Given the description of an element on the screen output the (x, y) to click on. 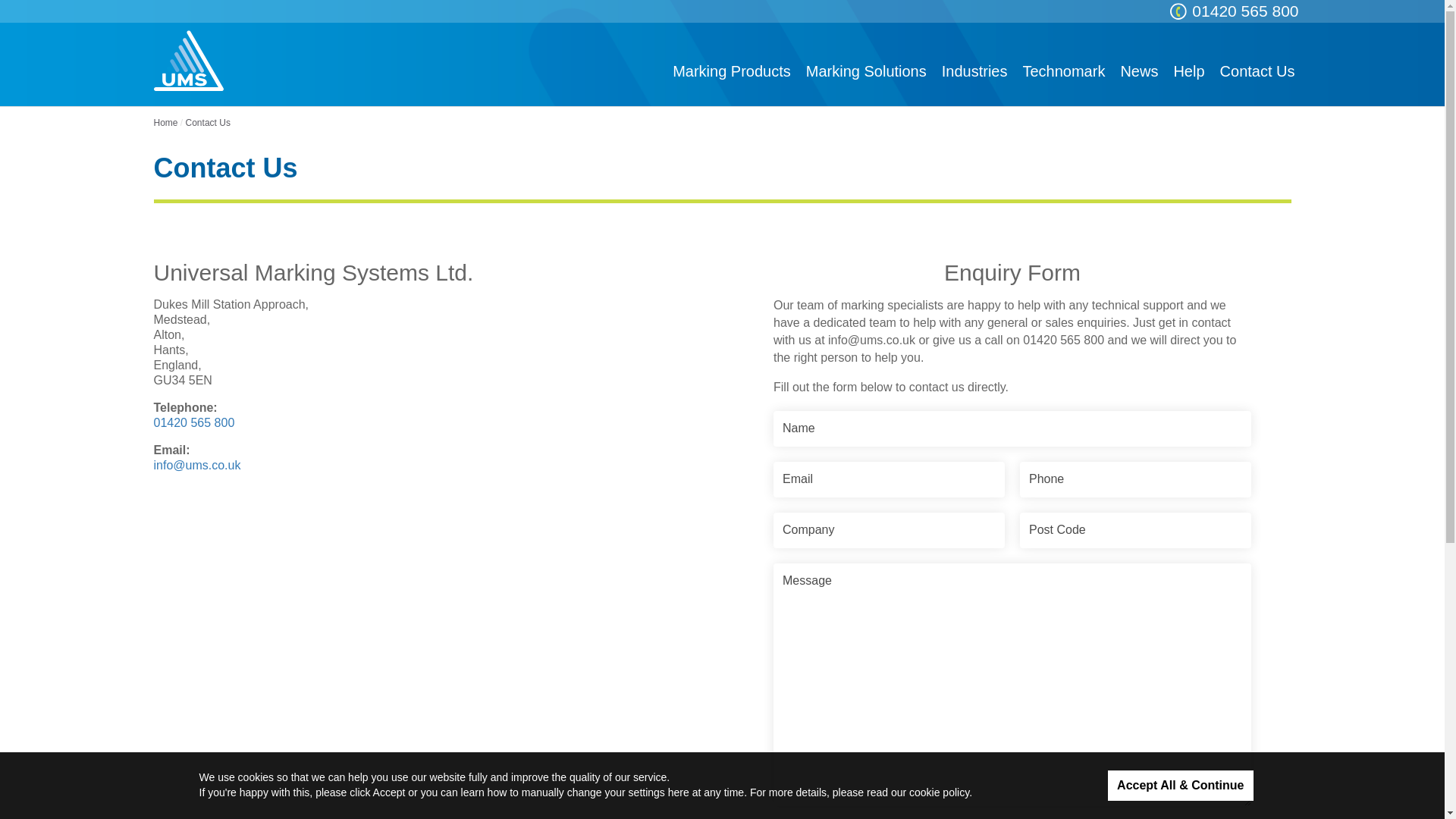
Company (888, 529)
Universal Marking Systems Ltd. (187, 60)
News (1139, 71)
Technomark (1063, 71)
01420 565 800 (1244, 11)
Industries (974, 71)
Marking Products (731, 71)
Phone (1135, 479)
Help (1188, 71)
Email (888, 479)
